Given the description of an element on the screen output the (x, y) to click on. 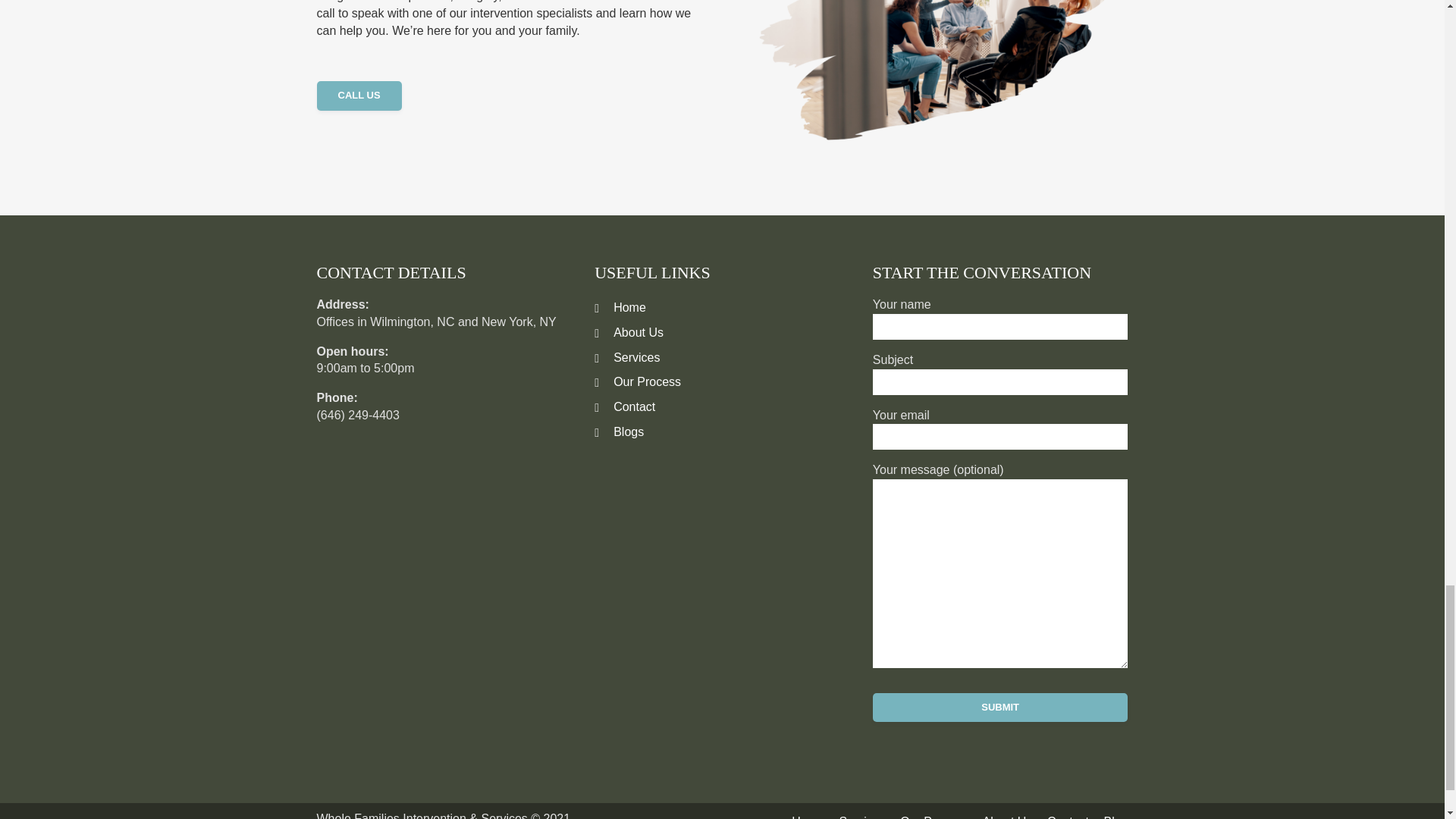
Submit (1000, 707)
CALL US (359, 95)
Services (626, 357)
Home (620, 307)
Contact (624, 406)
Blogs (618, 431)
About Us (628, 332)
Our Process (637, 381)
Submit (1000, 707)
